Given the description of an element on the screen output the (x, y) to click on. 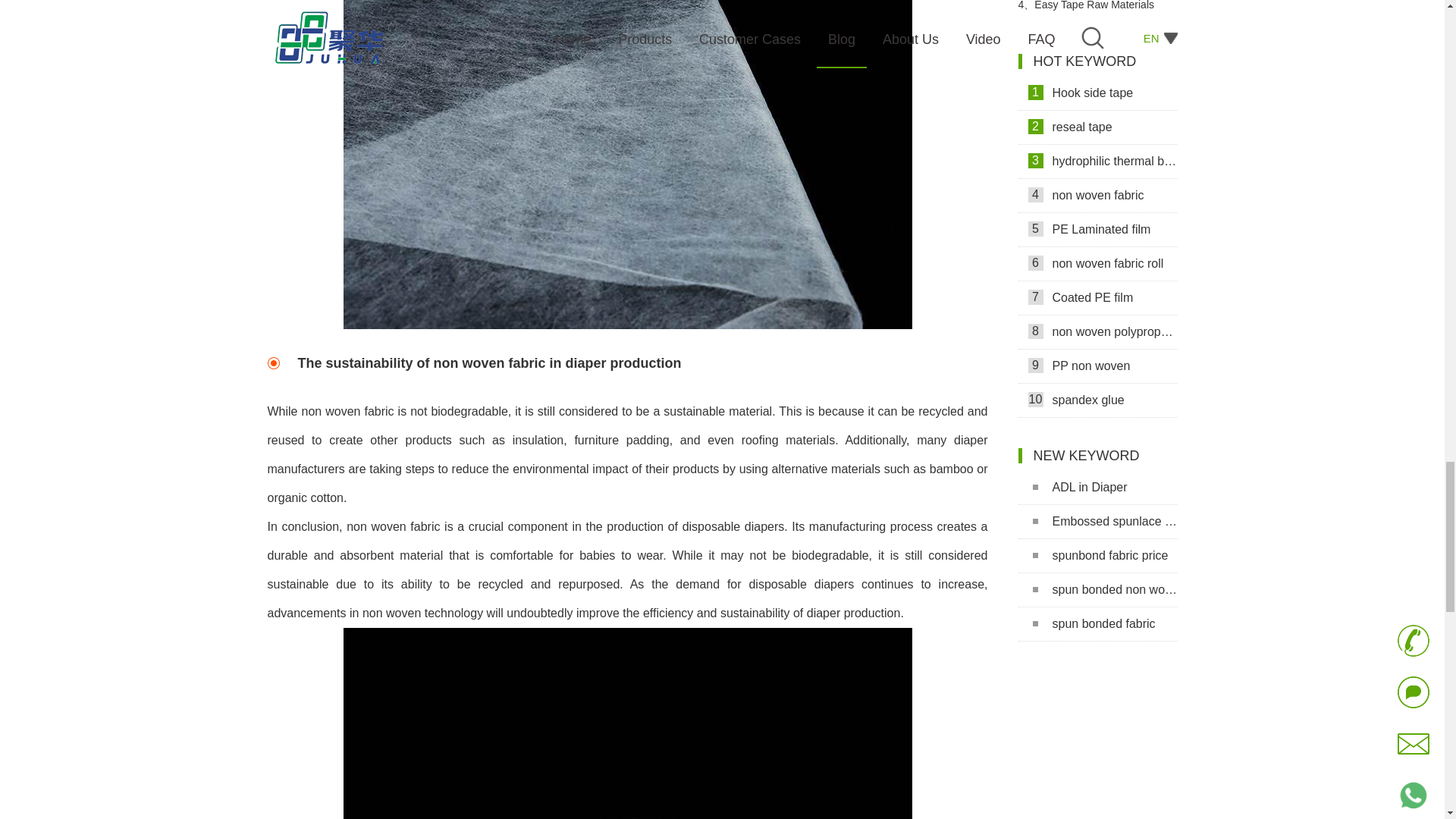
PE Laminated film (1096, 229)
Coated PE film  (1096, 298)
spunbond fabric price (1096, 555)
non woven fabric (626, 723)
spandex glue (1096, 400)
Embossed spunlace non woven  fabric for wet wipes (1096, 521)
non woven fabric roll  (1096, 264)
reseal tape (1096, 127)
Hook side tape (1096, 93)
non woven fabric (1096, 195)
hydrophilic thermal bond non woven fabric  (1096, 161)
Easy Tape Raw Materials Used In Sanitary Pads Video (1096, 11)
ADL in Diaper (1096, 487)
non woven polypropylene  (1096, 332)
